Given the description of an element on the screen output the (x, y) to click on. 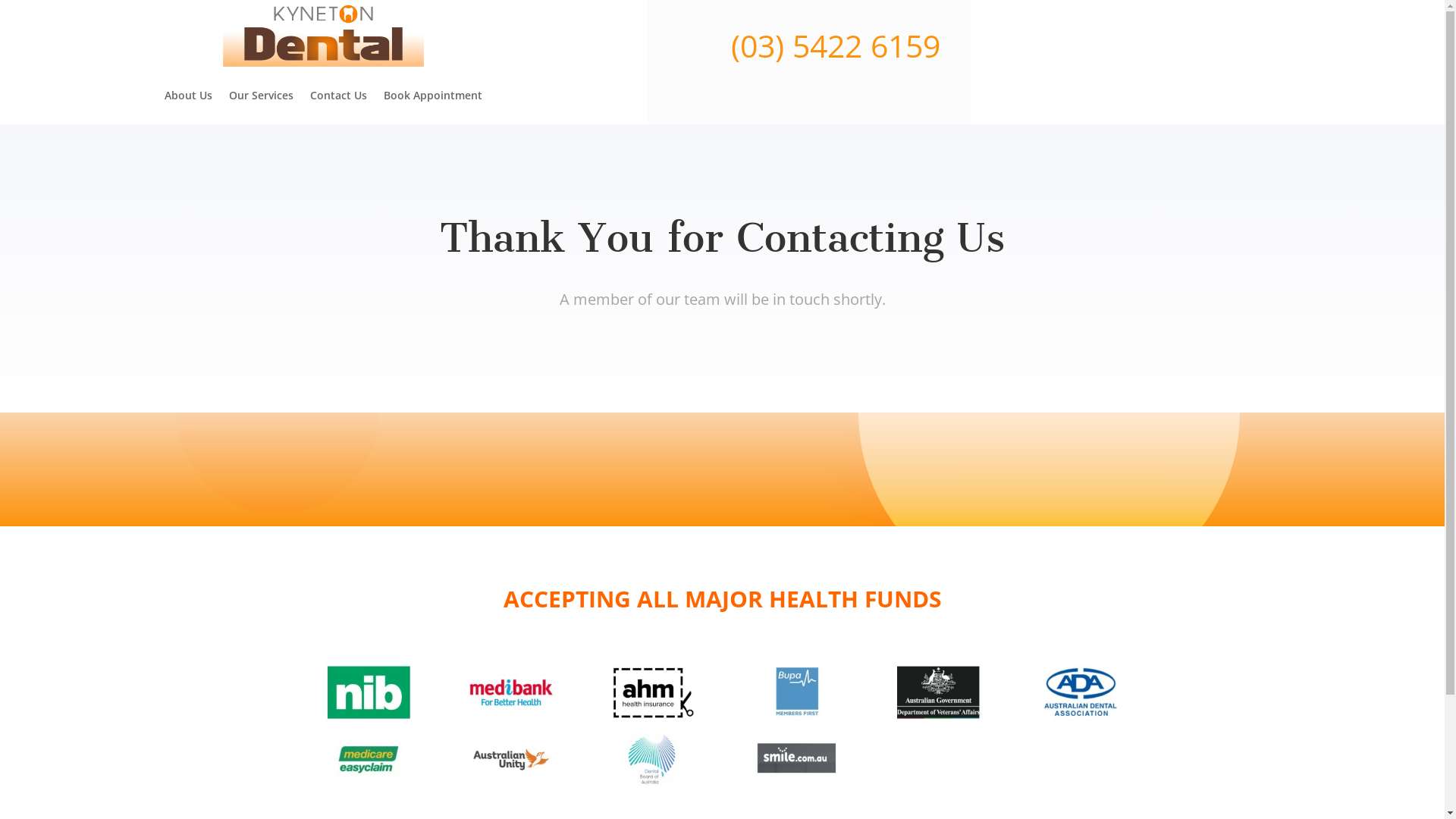
Our Services Element type: text (261, 95)
Contact Us Element type: text (338, 95)
About Us Element type: text (188, 95)
Book Appointment Element type: text (432, 95)
health funds Element type: hover (721, 727)
